Given the description of an element on the screen output the (x, y) to click on. 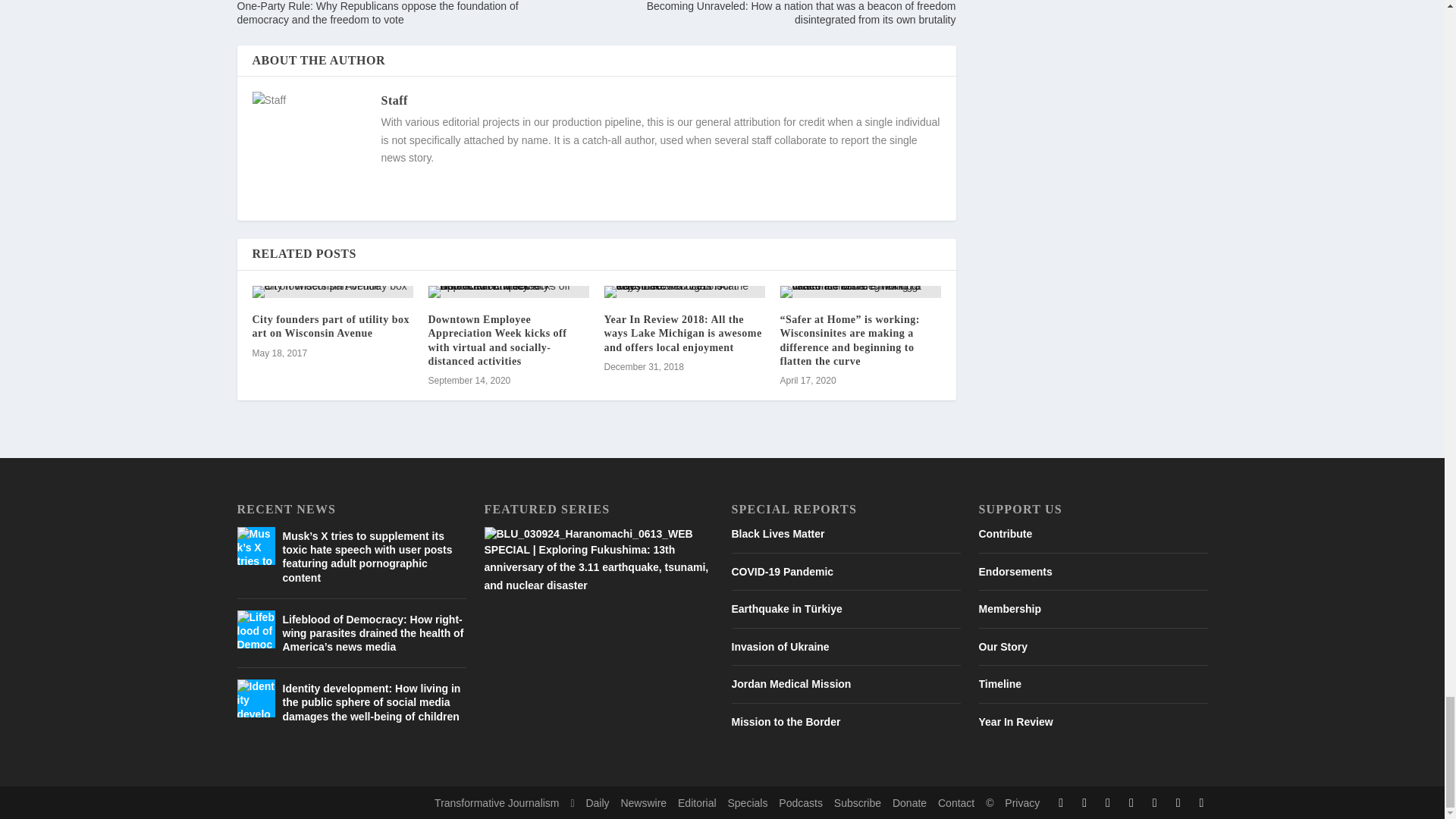
View all posts by Staff (393, 100)
City founders part of utility box art on Wisconsin Avenue (331, 291)
